Given the description of an element on the screen output the (x, y) to click on. 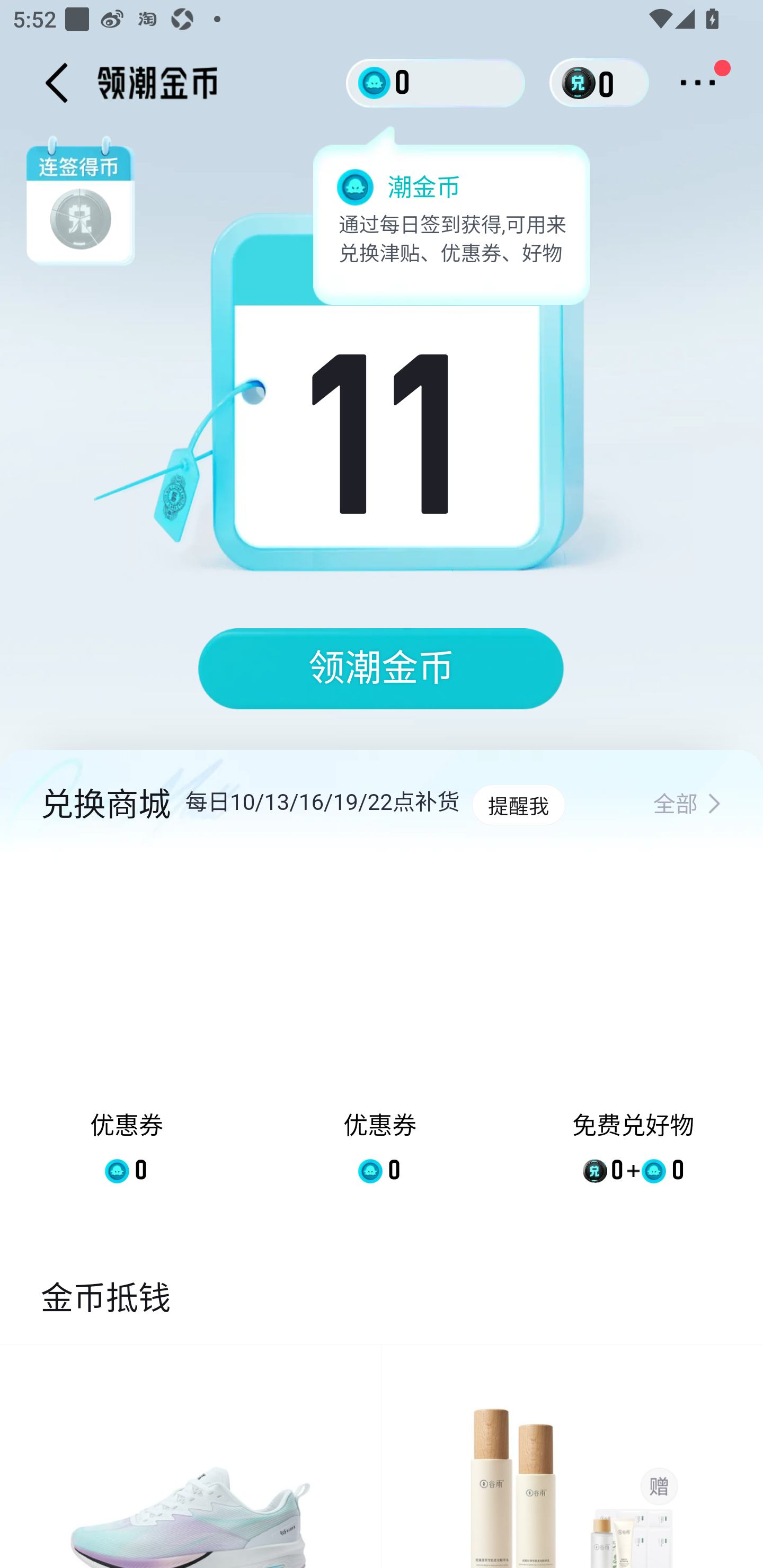
0 (435, 82)
format,webp 0 (581, 83)
领潮金币 (381, 668)
提醒我 (518, 805)
全部 (687, 804)
优惠券 0 (127, 1031)
优惠券 0 (379, 1031)
免费兑好物 0 0 (633, 1031)
